Given the description of an element on the screen output the (x, y) to click on. 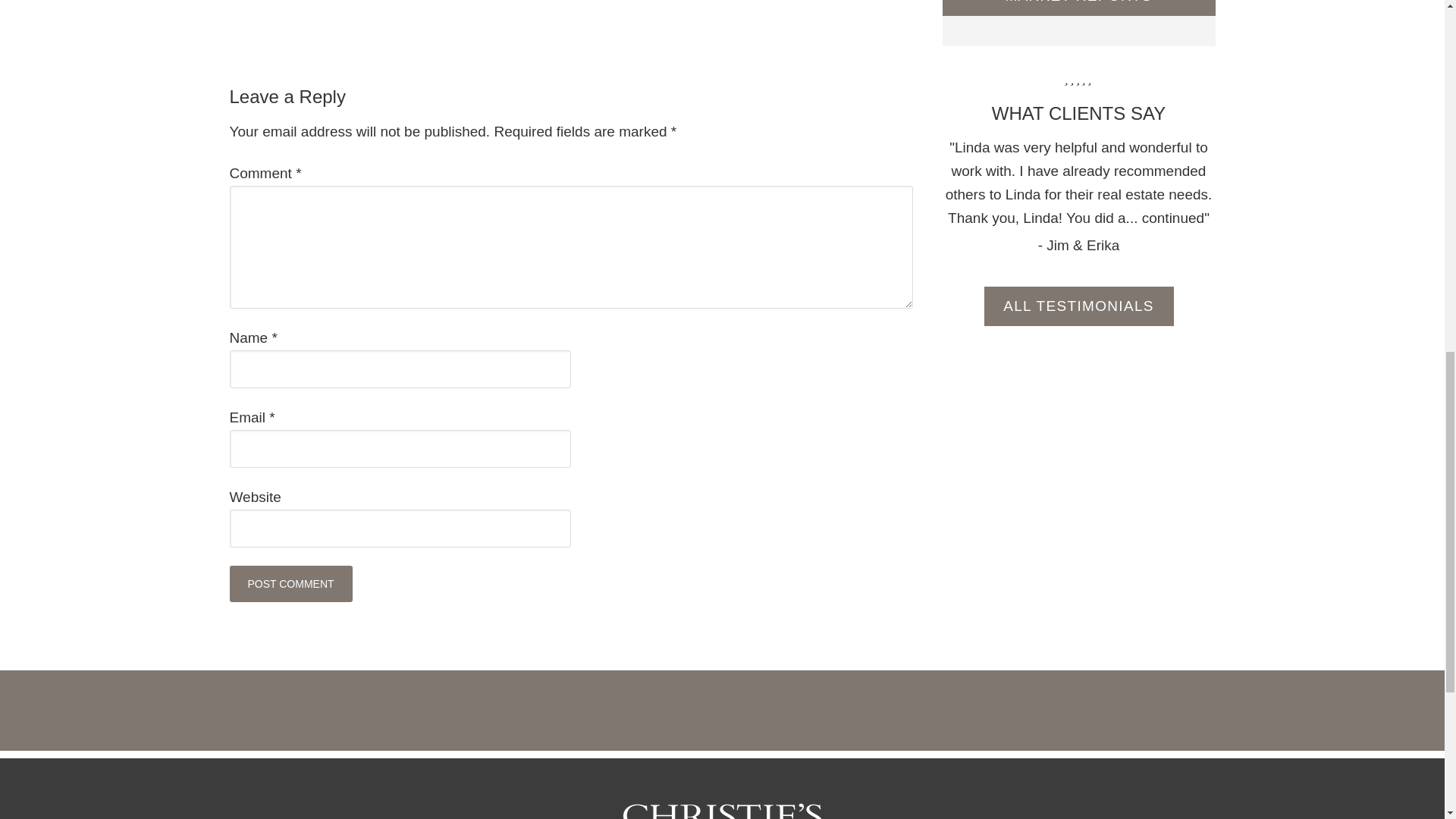
Post Comment (290, 583)
